Given the description of an element on the screen output the (x, y) to click on. 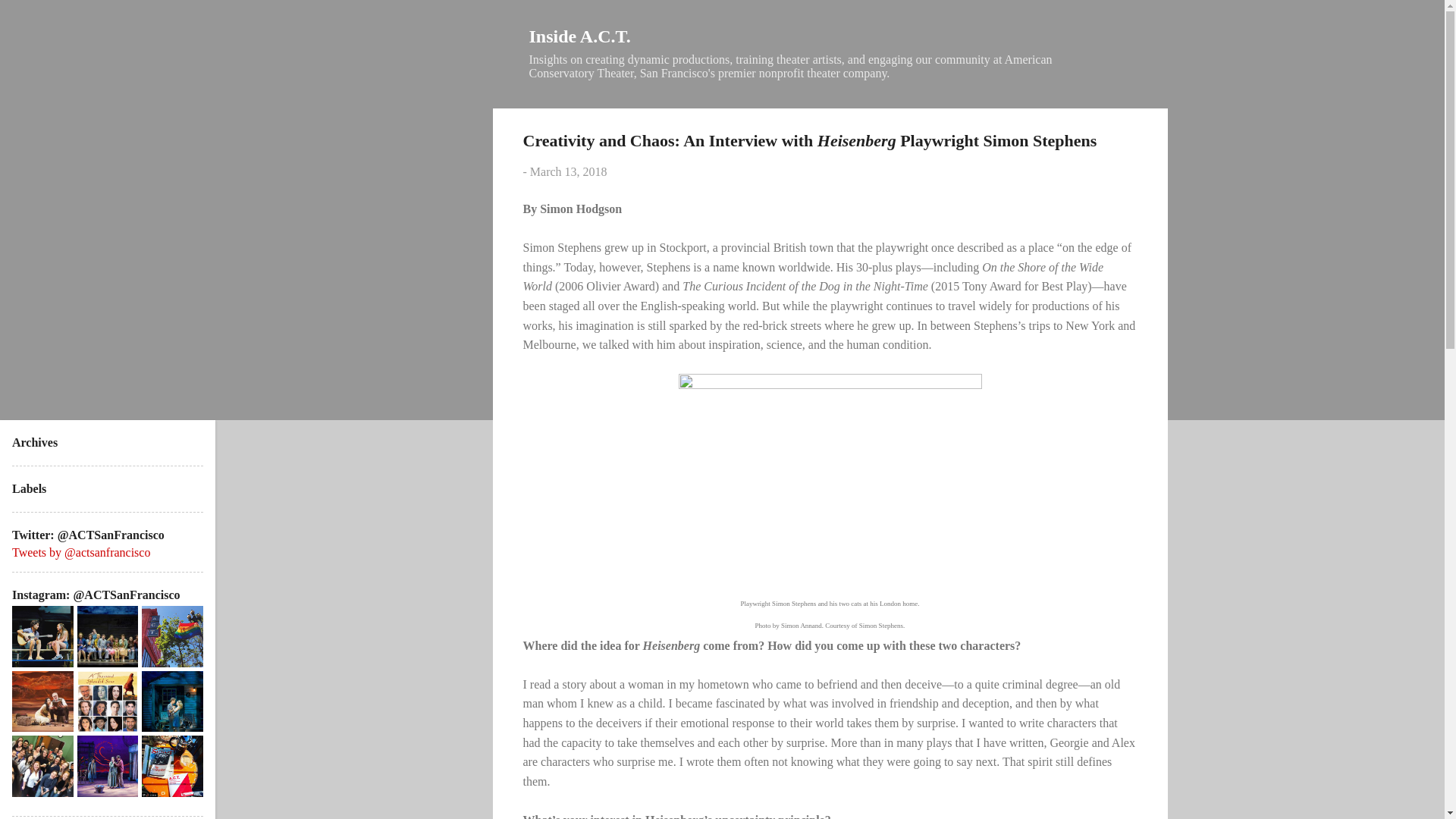
March 13, 2018 (568, 171)
Search (31, 18)
Inside A.C.T. (579, 35)
permanent link (568, 171)
